Given the description of an element on the screen output the (x, y) to click on. 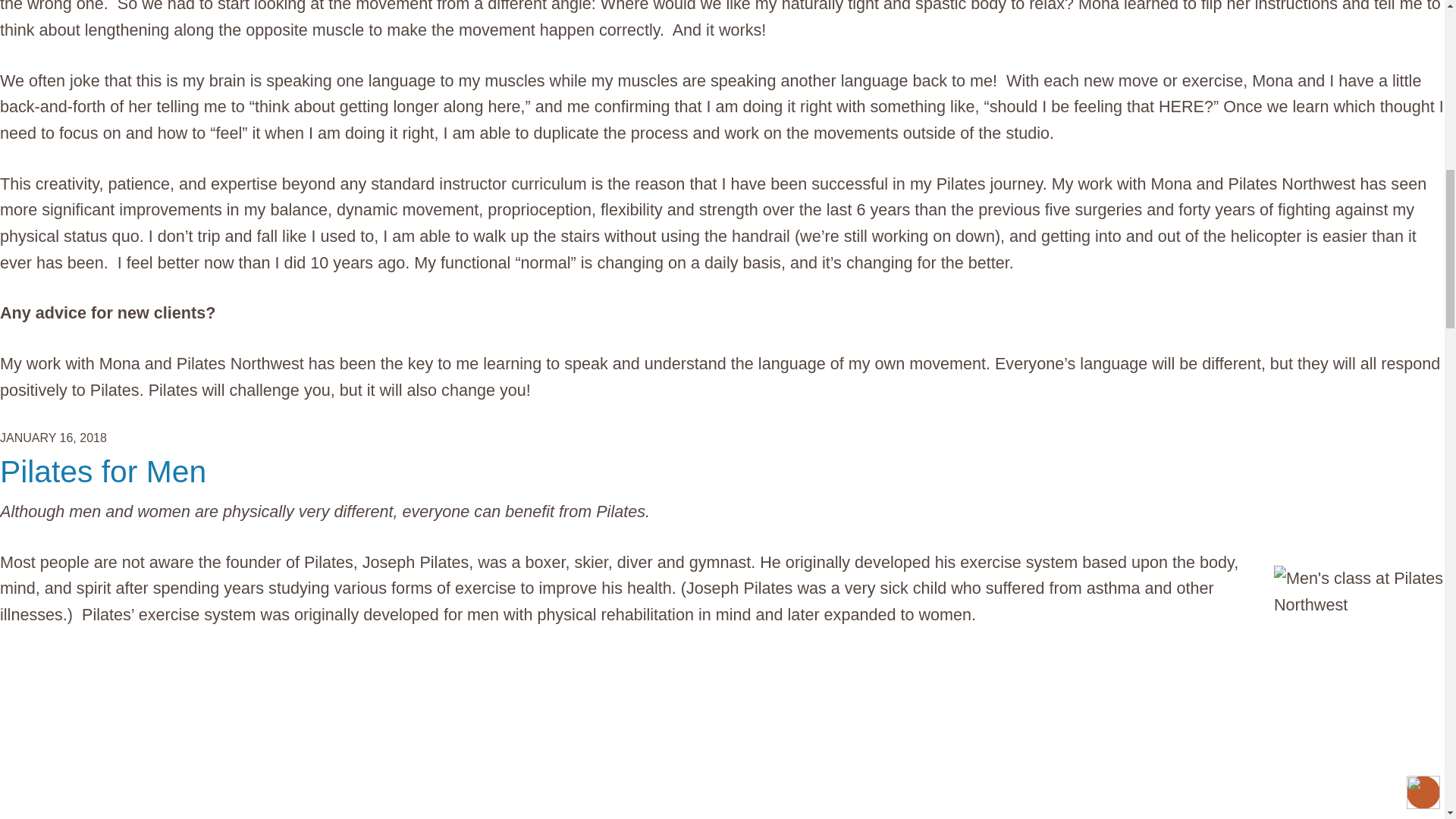
Pilates for Men (103, 471)
